Given the description of an element on the screen output the (x, y) to click on. 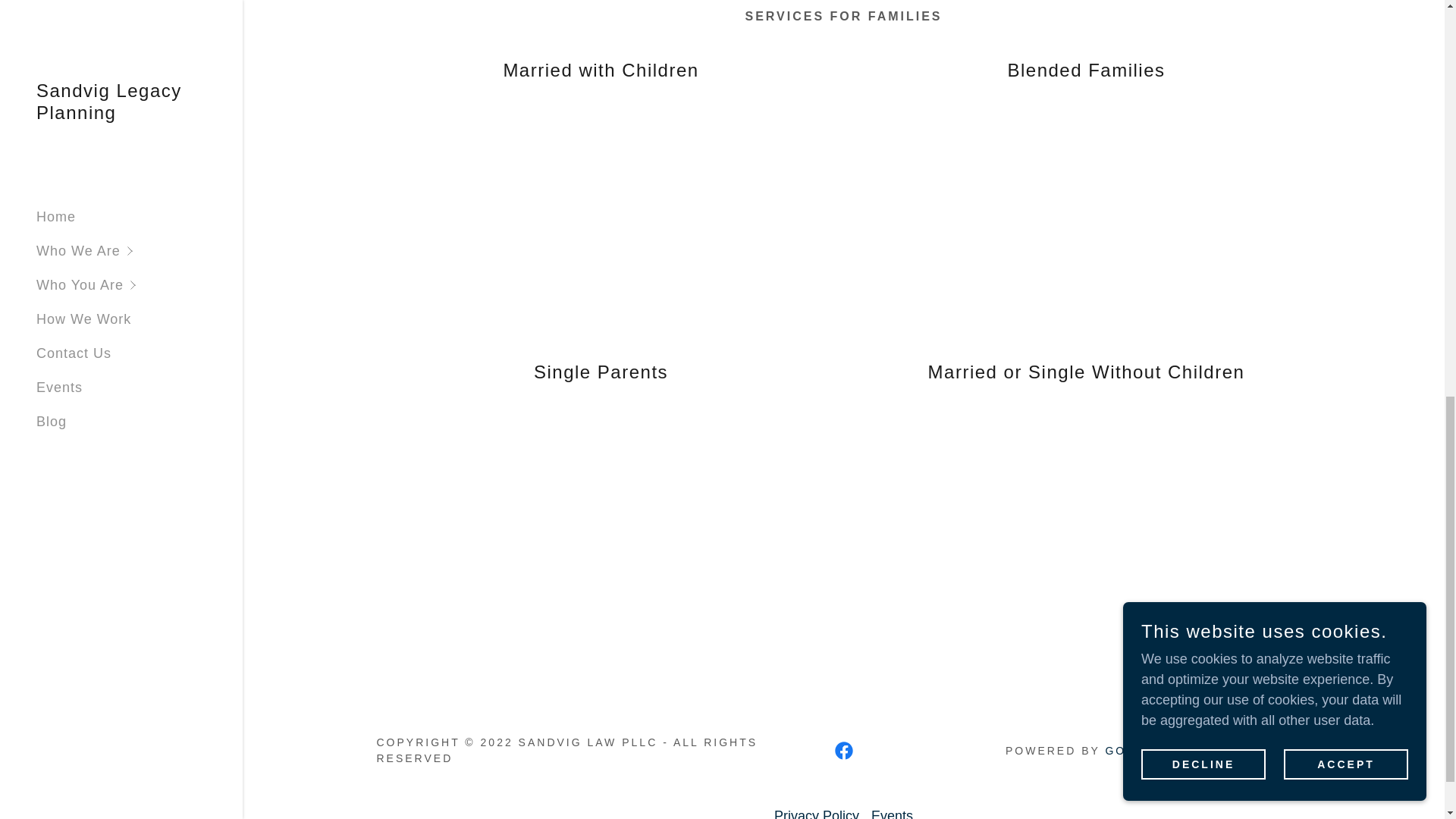
GODADDY (1139, 750)
Events (891, 810)
Privacy Policy (816, 810)
